Given the description of an element on the screen output the (x, y) to click on. 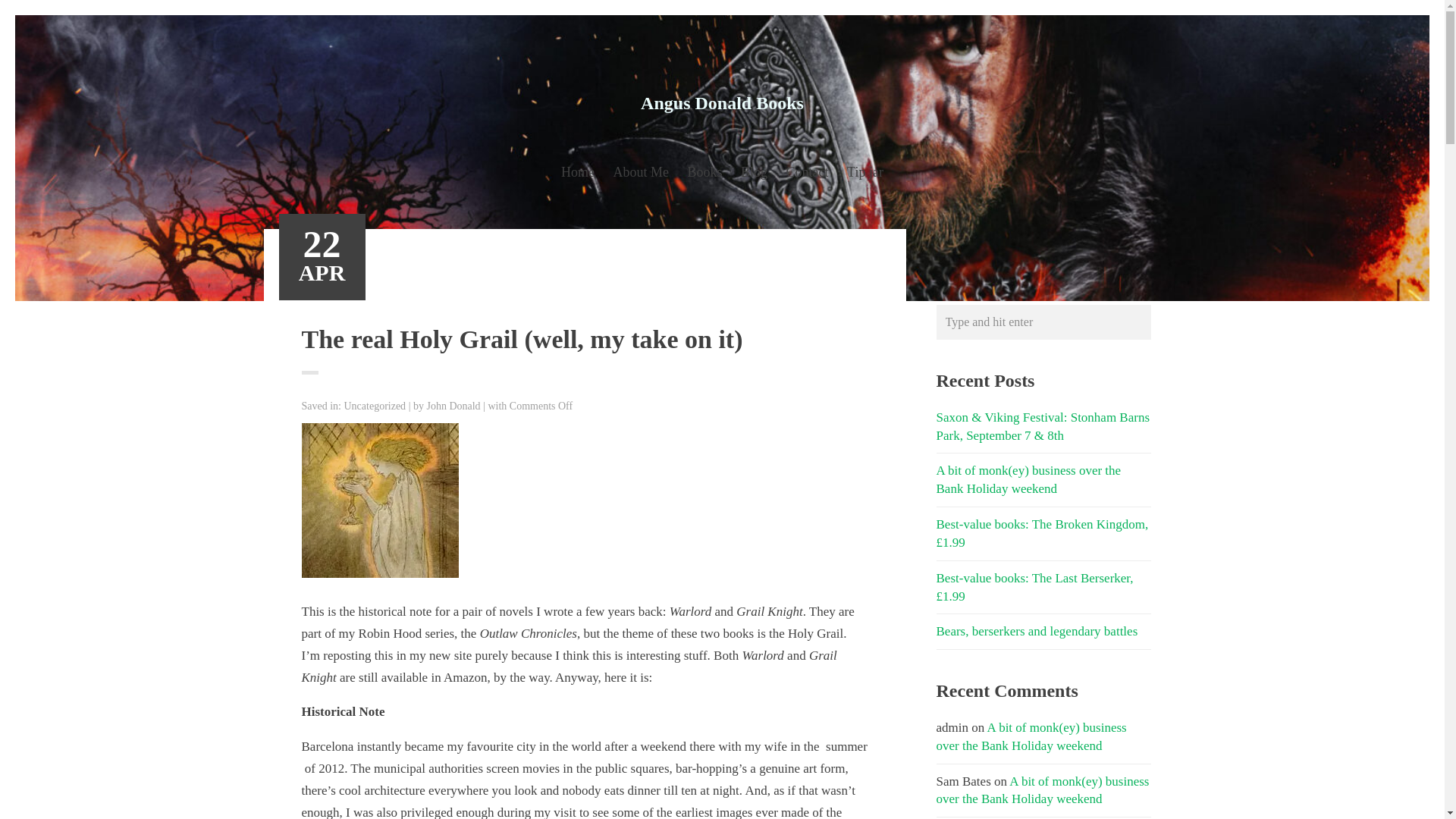
Bears, berserkers and legendary battles (1036, 631)
Angus Donald Books (721, 103)
Go to Home (721, 103)
Books (704, 174)
Uncategorized (374, 405)
Posts by John Donald (453, 405)
About Me (640, 174)
Contact (807, 174)
Blog (754, 174)
John Donald (453, 405)
